Given the description of an element on the screen output the (x, y) to click on. 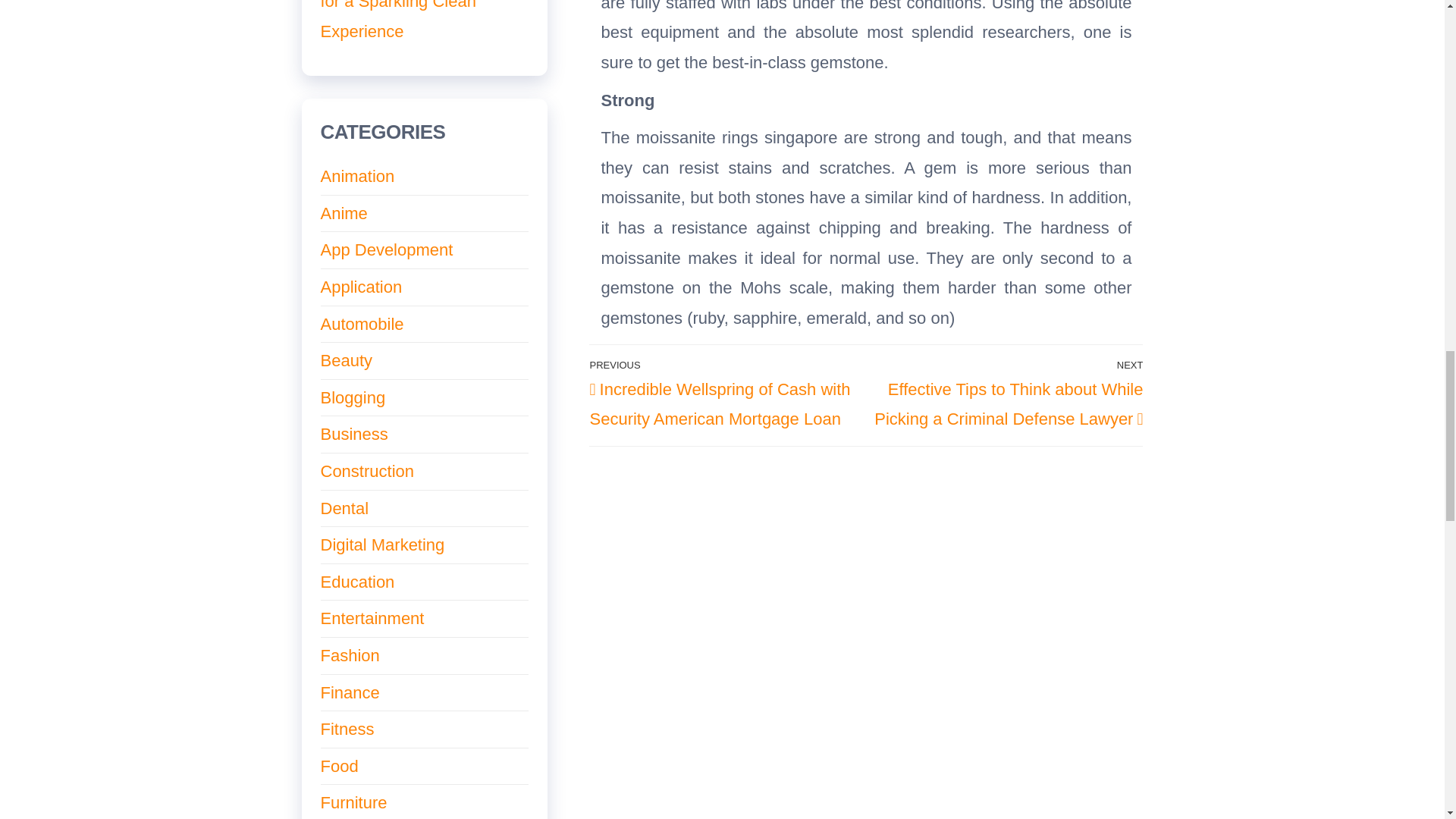
Dental (344, 507)
App Development (386, 249)
Fitness (347, 728)
Furniture (353, 802)
Application (360, 286)
Automobile (361, 323)
Beauty (346, 360)
Animation (357, 176)
Finance (349, 692)
